Given the description of an element on the screen output the (x, y) to click on. 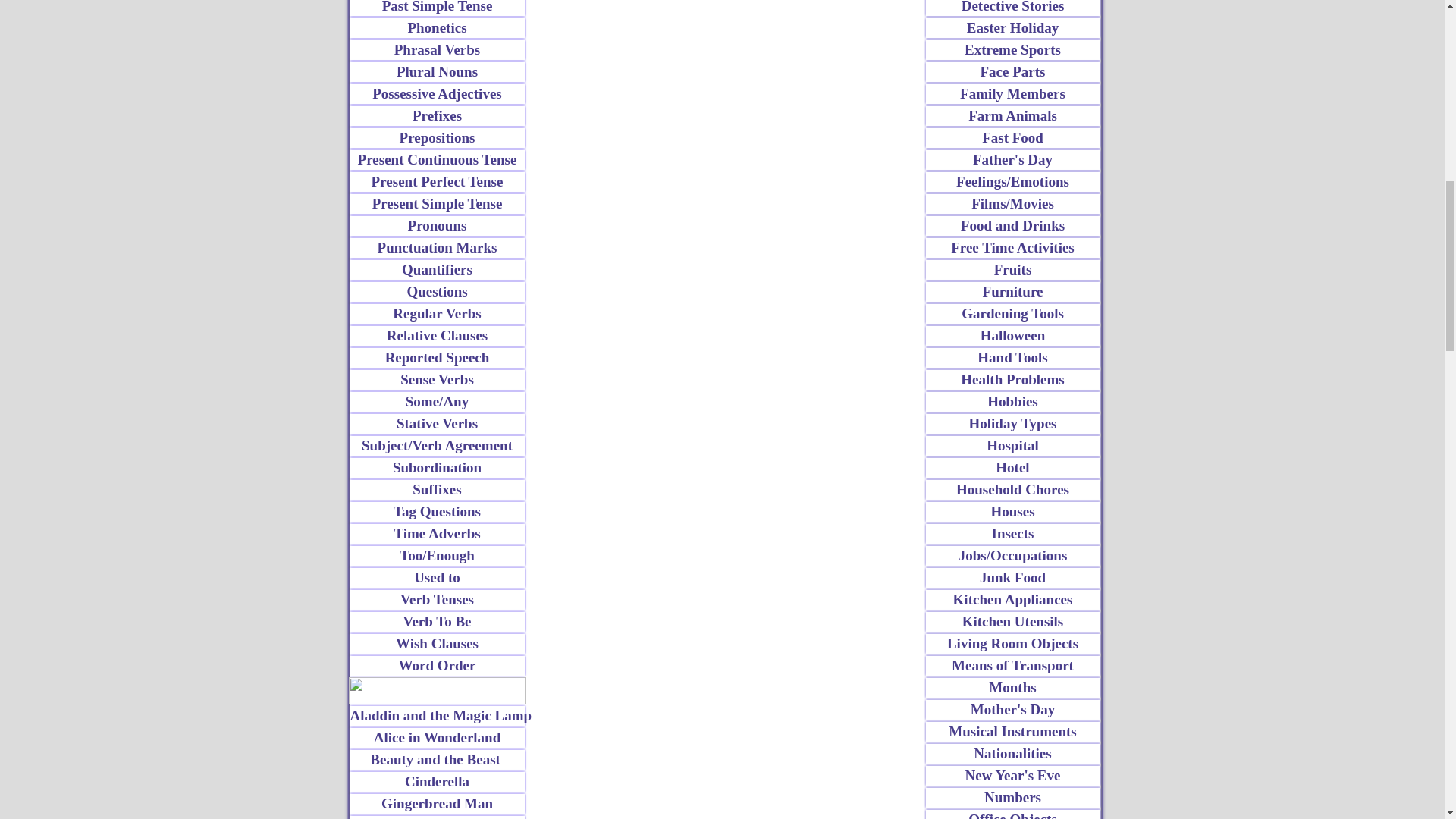
Cinderella (437, 781)
Alice in Wonderland (437, 737)
Beauty and the Beast  (437, 759)
Hansel and Gretel (437, 817)
Gingerbread Man (437, 803)
Aladdin and the Magic Lamp (437, 715)
